Given the description of an element on the screen output the (x, y) to click on. 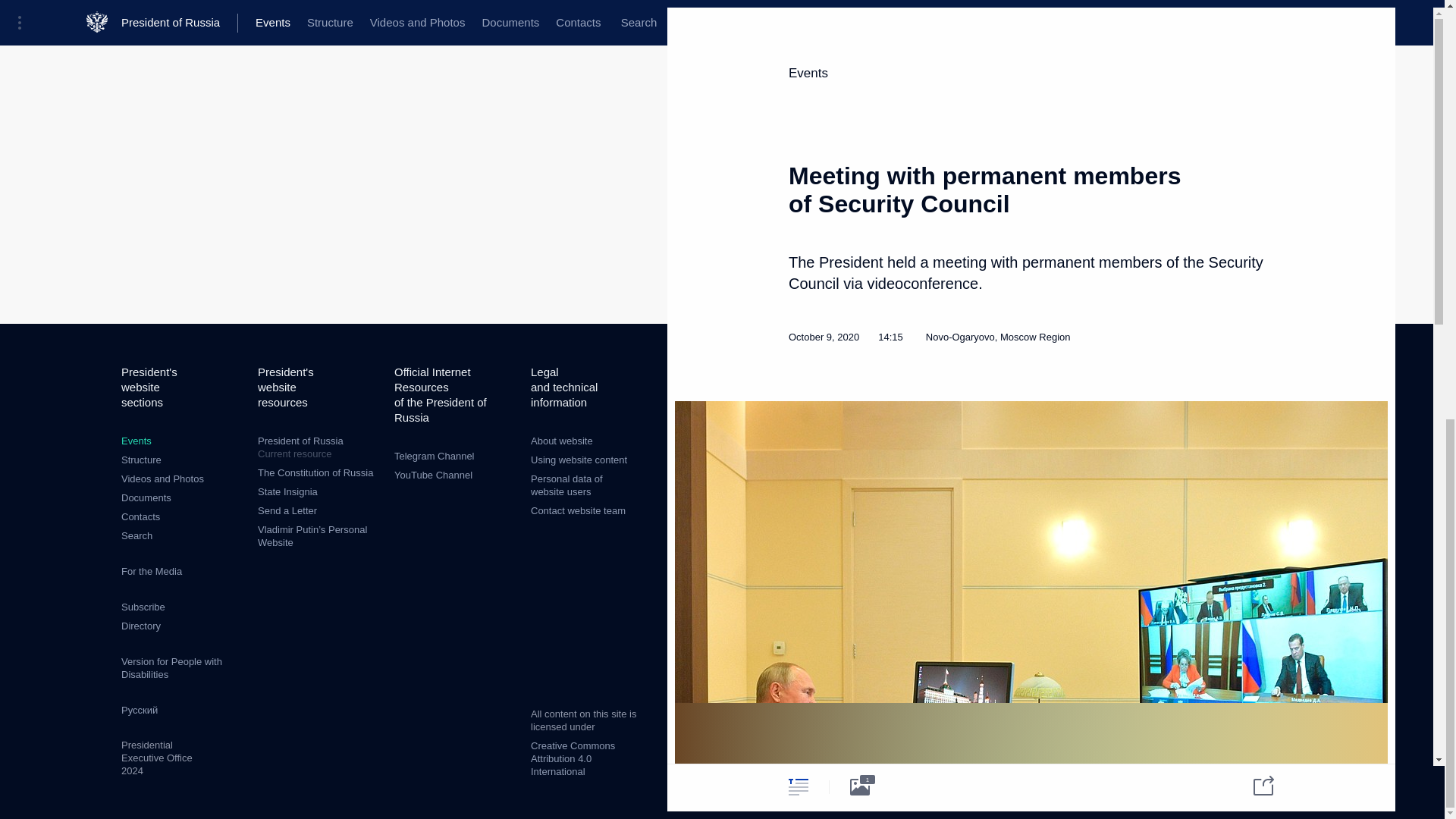
Events (135, 440)
Send a Letter (287, 510)
Valentina Matviyenko (1185, 46)
Creative Commons Attribution 4.0 International (572, 758)
Vyacheslav Volodin (967, 66)
Telegram Channel (434, 455)
YouTube Channel (432, 474)
Version for People with Disabilities (171, 668)
The Constitution of Russia (314, 472)
State Insignia (287, 491)
For the Media (151, 571)
Documents (145, 497)
Directory (317, 447)
About website (140, 625)
